Given the description of an element on the screen output the (x, y) to click on. 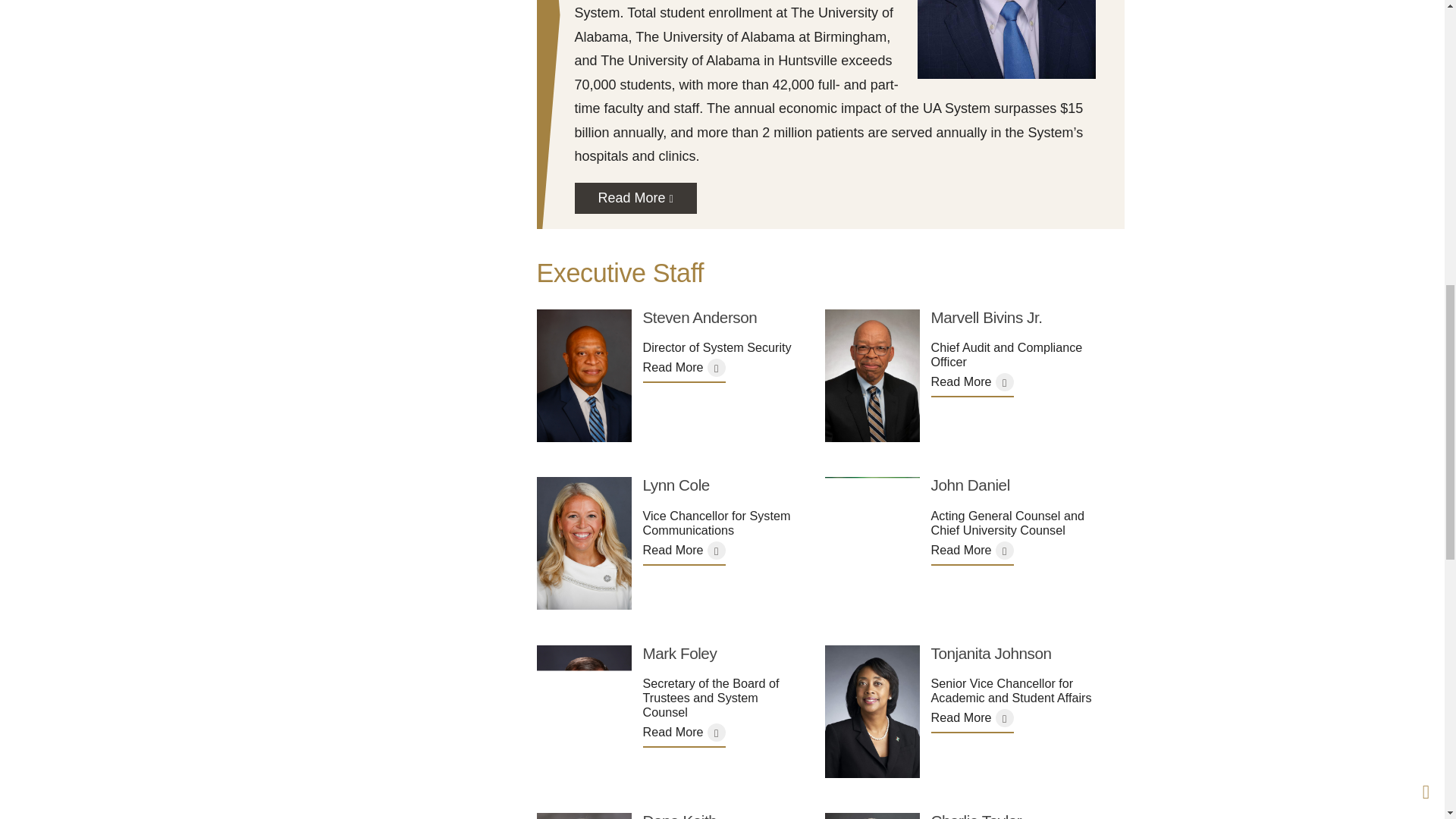
Read More (972, 381)
Read More (636, 198)
Read More (684, 366)
